Given the description of an element on the screen output the (x, y) to click on. 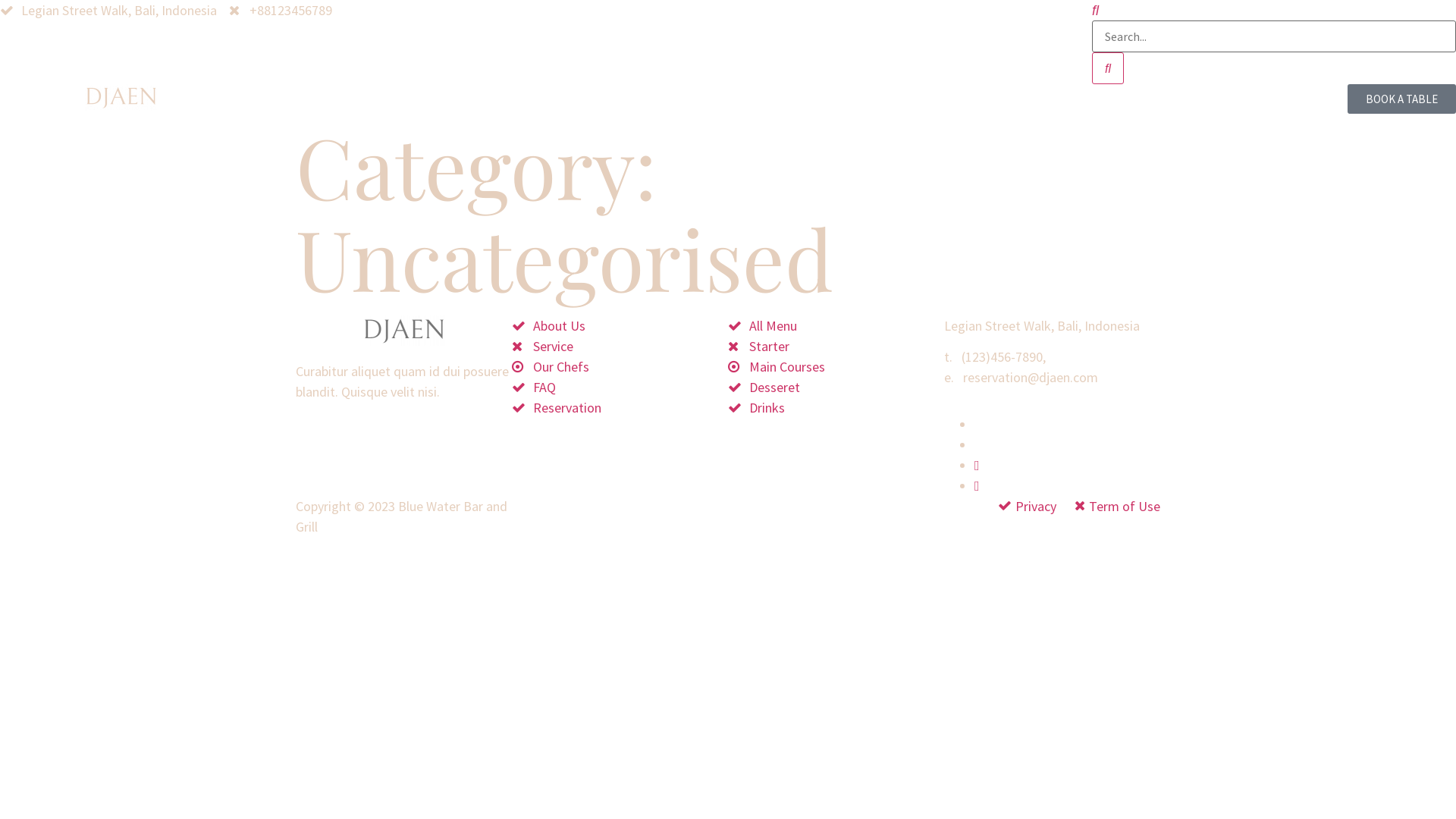
Term of Use Element type: text (1113, 505)
About Us Element type: text (619, 325)
Our Chefs Element type: text (619, 366)
Reservation Element type: text (619, 407)
Desseret Element type: text (836, 386)
djaen-2.png Element type: hover (403, 330)
Starter Element type: text (836, 345)
Main Courses Element type: text (836, 366)
All Menu Element type: text (836, 325)
FAQ Element type: text (619, 386)
Privacy Element type: text (1025, 505)
Drinks Element type: text (836, 407)
djaen-1.png Element type: hover (120, 97)
Service Element type: text (619, 345)
